Given the description of an element on the screen output the (x, y) to click on. 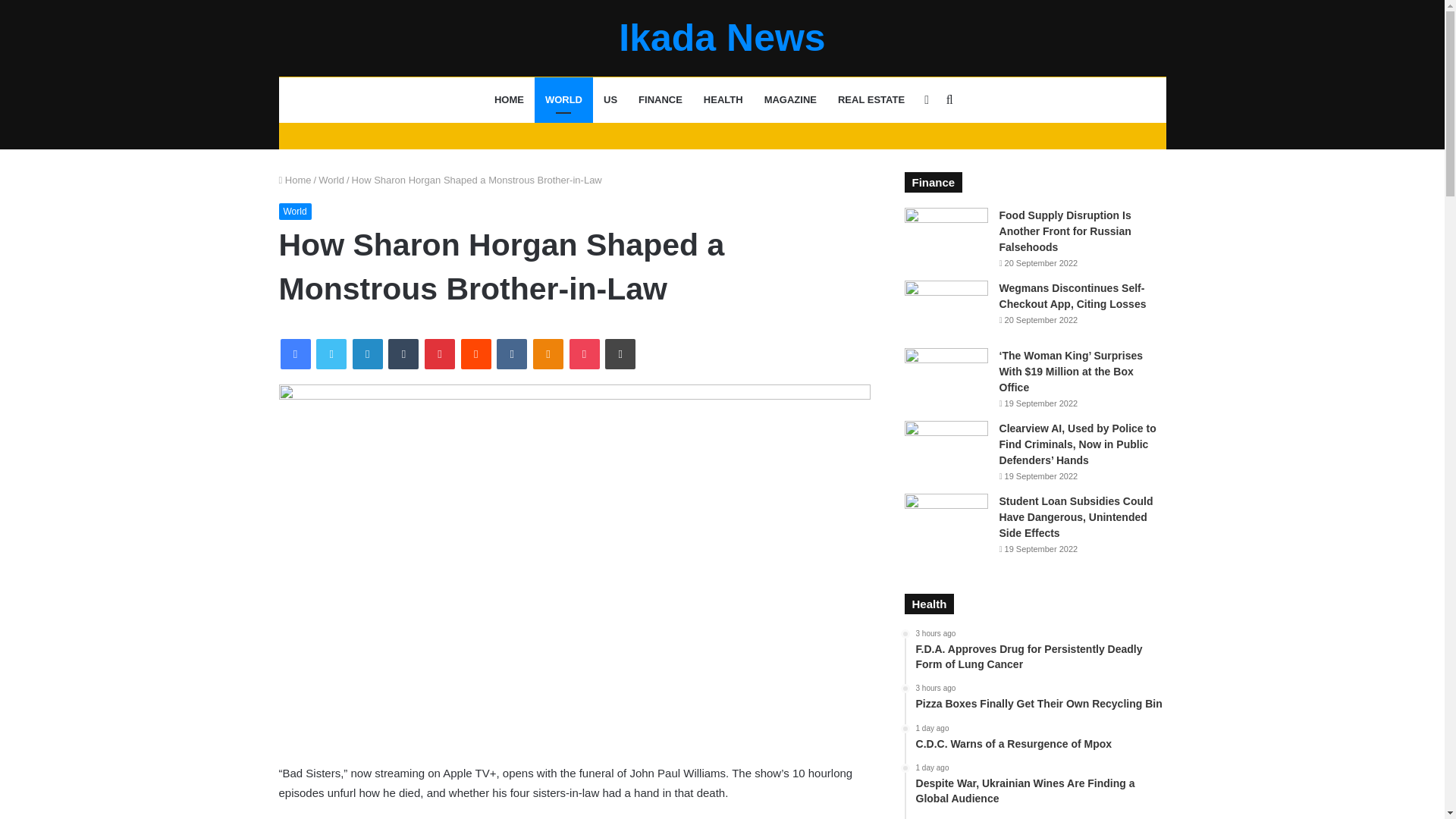
VKontakte (511, 354)
Tumblr (403, 354)
Twitter (330, 354)
Odnoklassniki (547, 354)
HOME (508, 99)
Facebook (296, 354)
WORLD (563, 99)
Twitter (330, 354)
Home (295, 179)
World (330, 179)
